Given the description of an element on the screen output the (x, y) to click on. 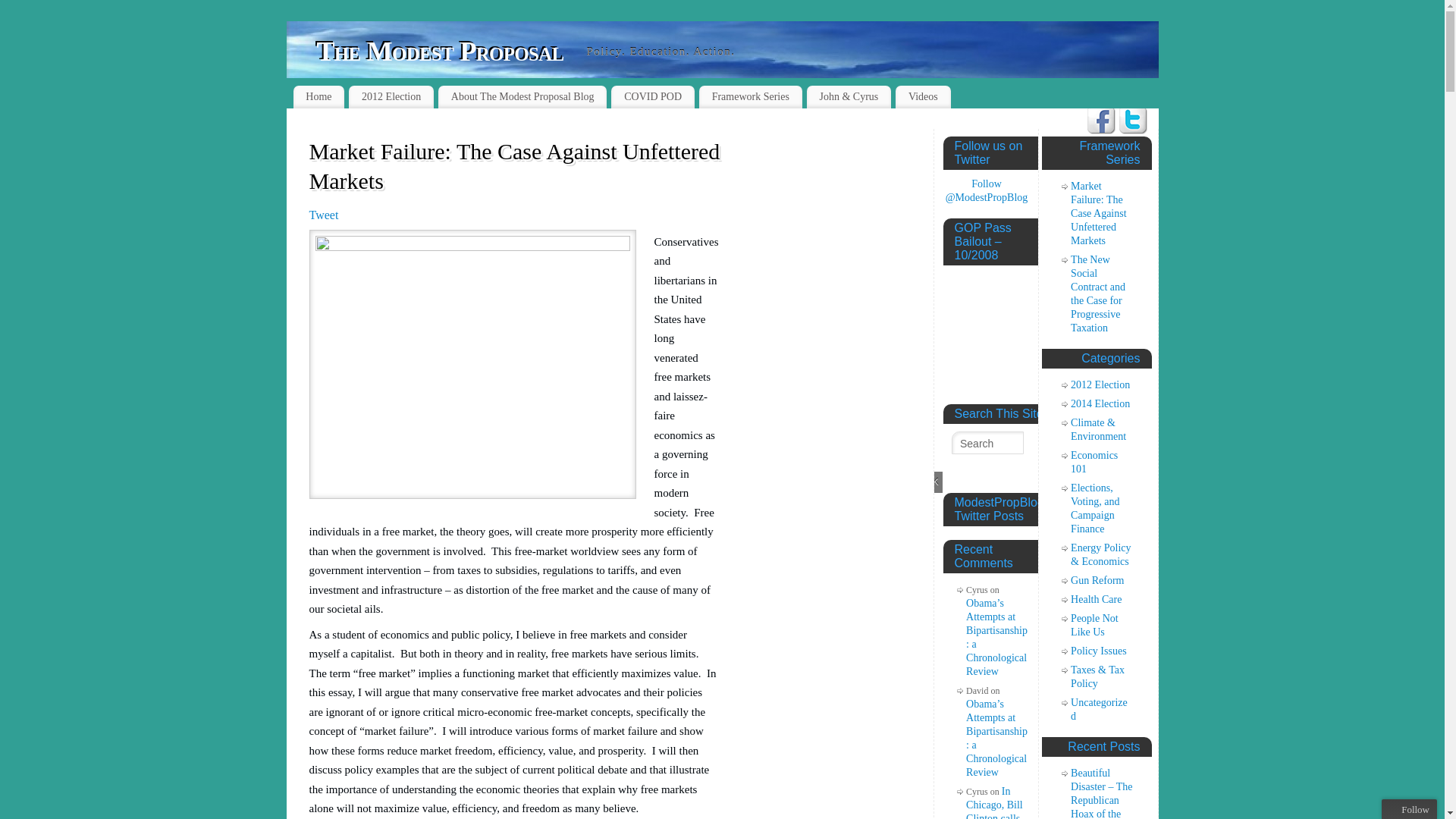
Home (317, 96)
COVID POD (652, 96)
Videos (922, 96)
The Modest Proposal (440, 51)
2012 Election (391, 96)
Search (987, 442)
The Modest Proposal (440, 51)
About The Modest Proposal Blog (522, 96)
Political Cartoon: "Free Market" by Adam Zyglist (472, 364)
OK (931, 482)
